Given the description of an element on the screen output the (x, y) to click on. 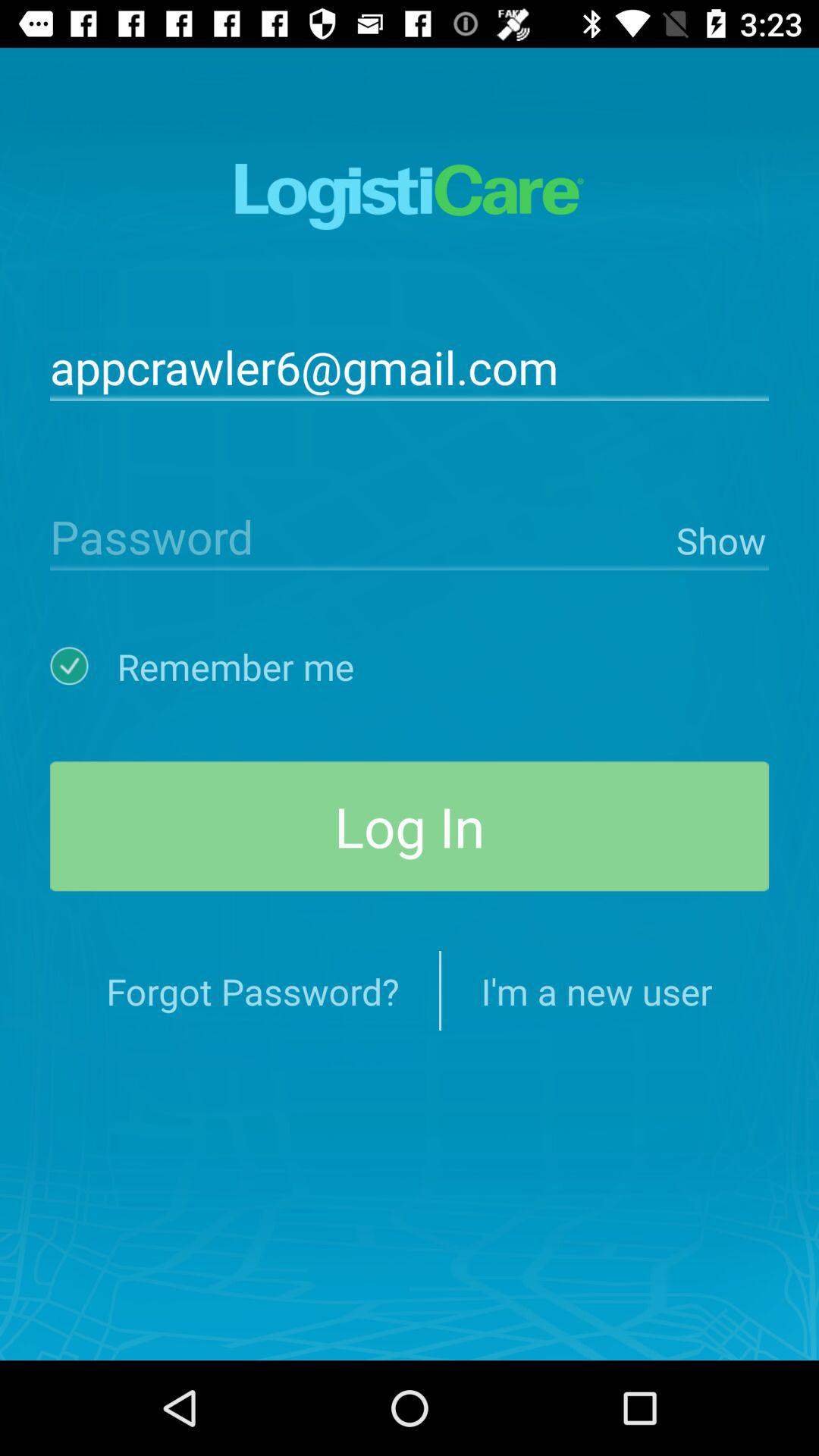
remember me (83, 665)
